Given the description of an element on the screen output the (x, y) to click on. 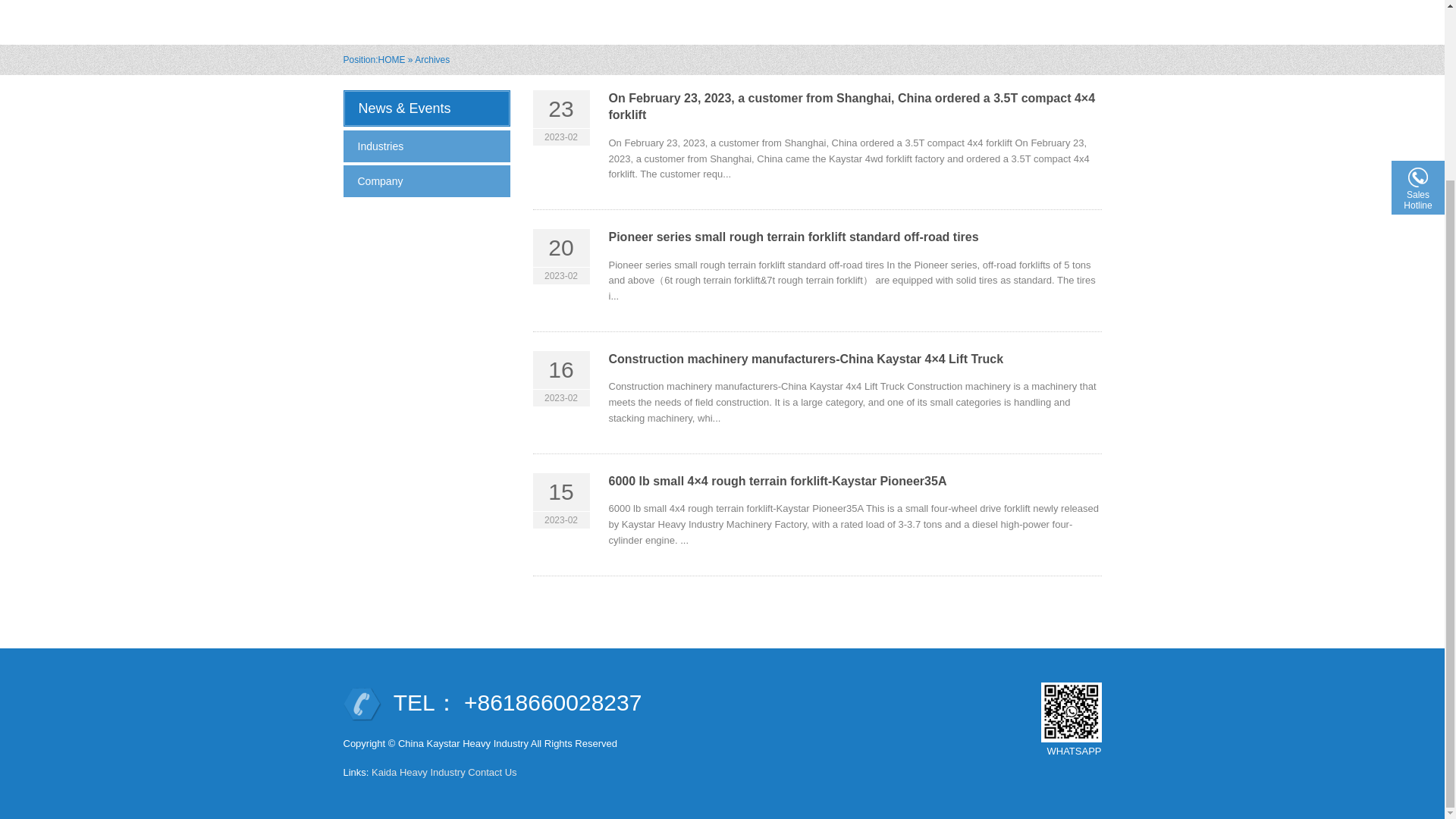
Kaida Heavy Industry (418, 772)
Industries (425, 146)
Contact Us (491, 772)
HOME (392, 59)
Company (425, 181)
